Given the description of an element on the screen output the (x, y) to click on. 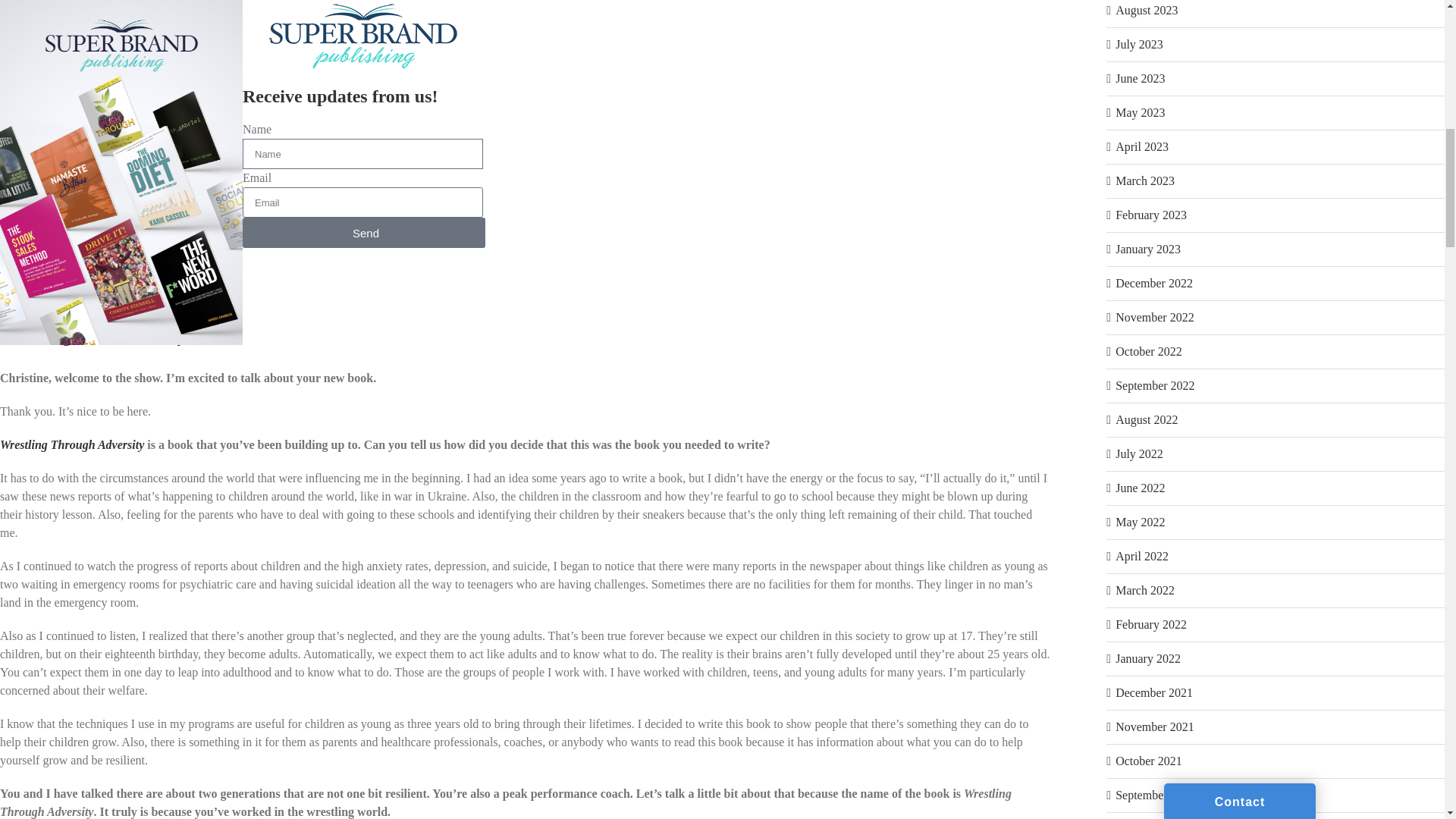
Wrestling Through Adversity (72, 444)
YouTube video player (212, 125)
